Given the description of an element on the screen output the (x, y) to click on. 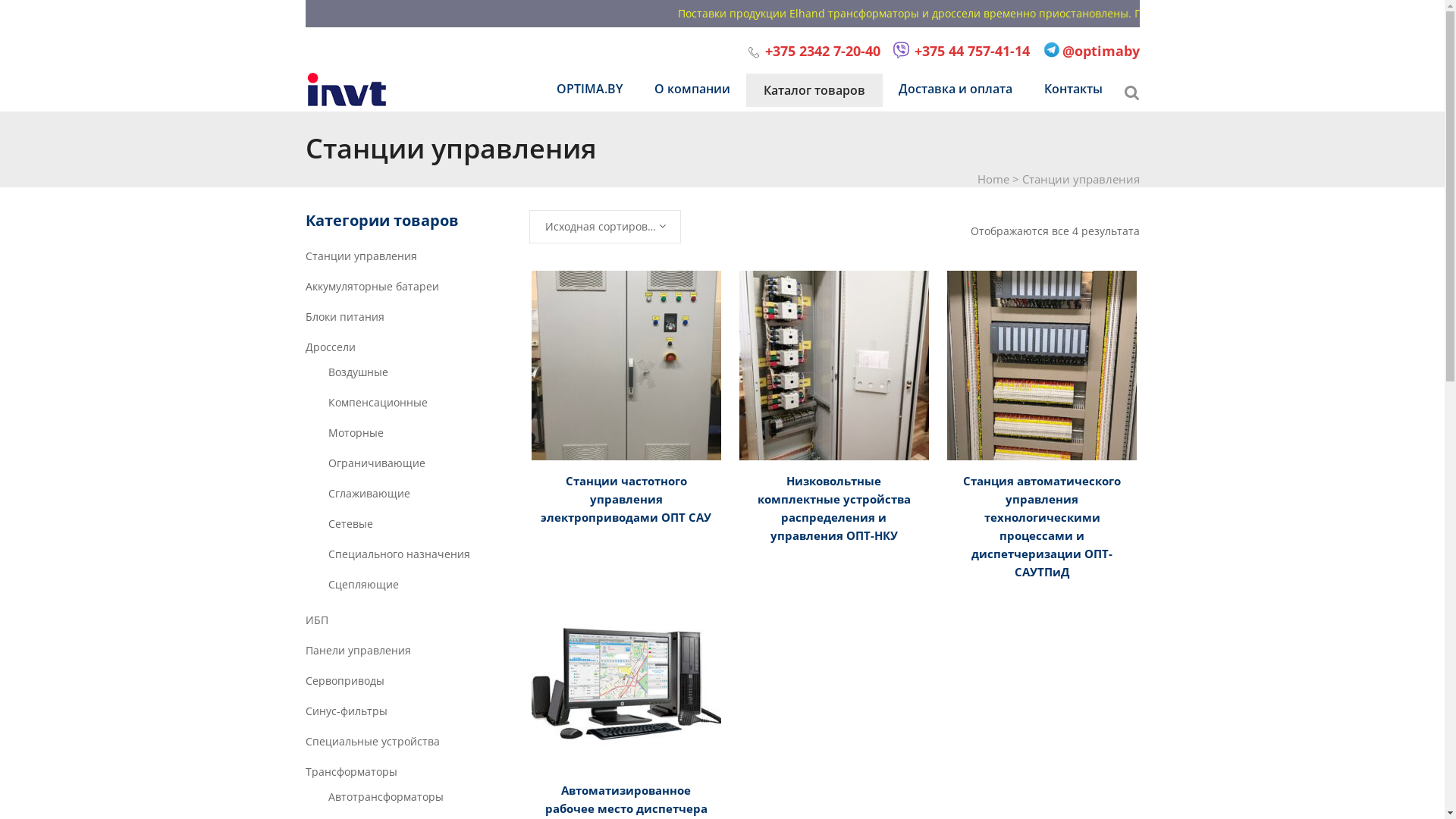
arm Element type: hover (626, 684)
OPTIMA.BY Element type: text (588, 88)
Home Element type: text (992, 178)
